Given the description of an element on the screen output the (x, y) to click on. 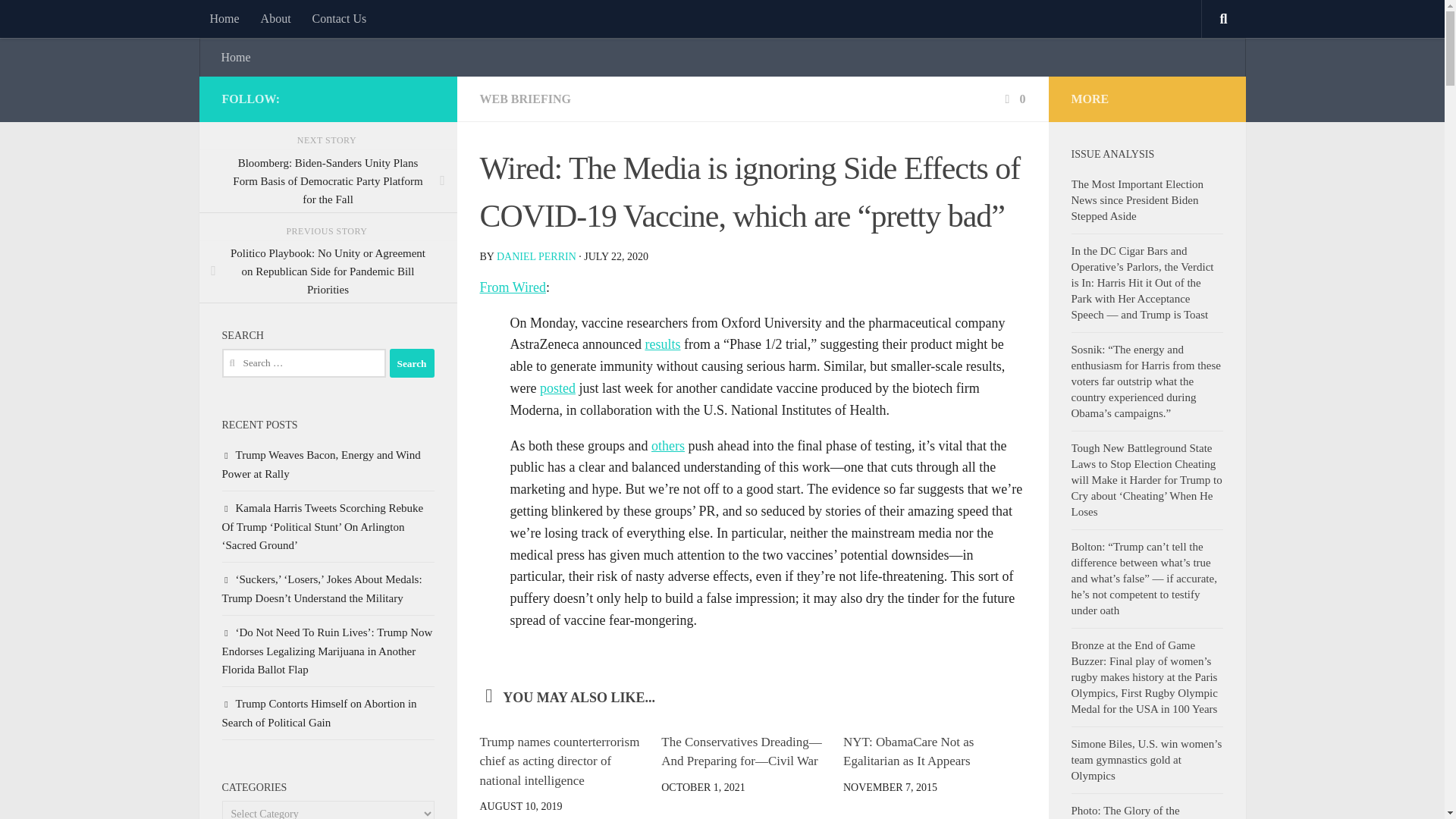
others (667, 445)
Home (223, 18)
Search (411, 362)
Search (411, 362)
Contact Us (339, 18)
NYT: ObamaCare Not as Egalitarian as It Appears (908, 751)
results (662, 344)
posted (557, 387)
From Wired (511, 287)
Search (411, 362)
